Given the description of an element on the screen output the (x, y) to click on. 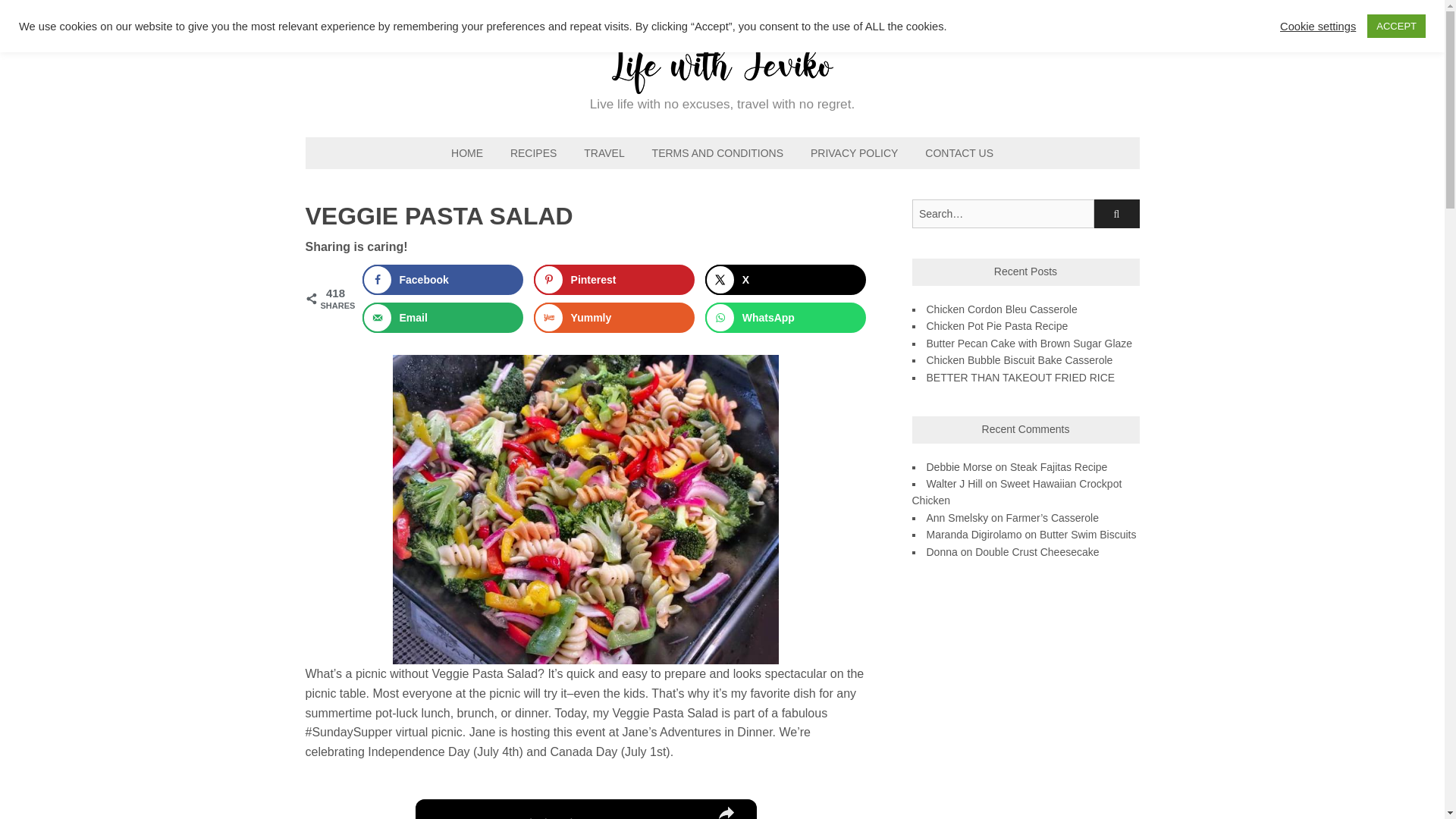
Send over email (443, 317)
TERMS AND CONDITIONS (717, 152)
PRIVACY POLICY (853, 152)
TRAVEL (604, 152)
Share on WhatsApp (785, 317)
Share on Yummly (614, 317)
WhatsApp (785, 317)
Yummly (614, 317)
Life with Susan (721, 83)
CONTACT US (959, 152)
Share on X (785, 279)
Facebook (443, 279)
X (785, 279)
Pinterest (614, 279)
RECIPES (533, 152)
